Given the description of an element on the screen output the (x, y) to click on. 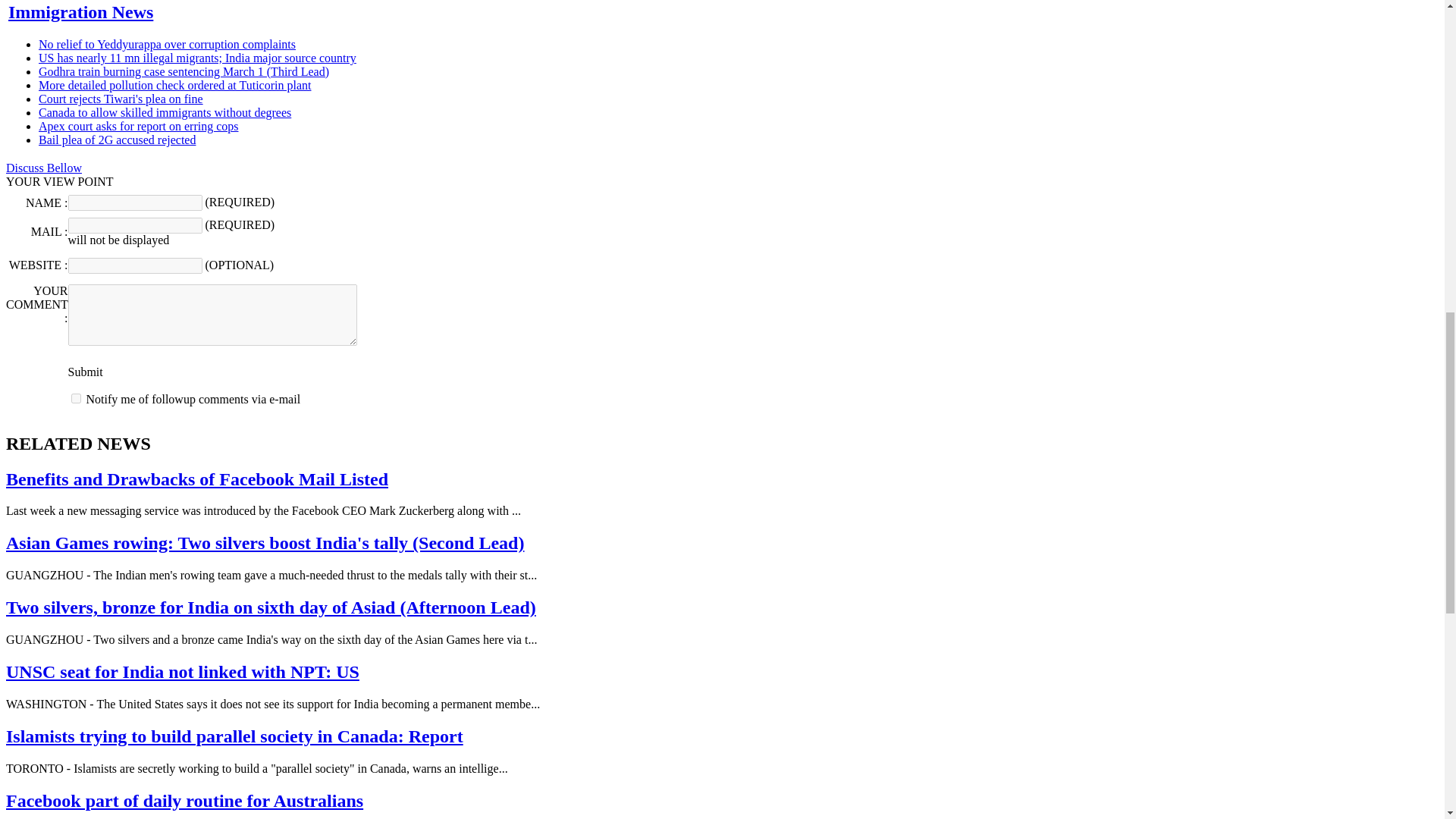
Canada to allow skilled immigrants without degrees (165, 112)
More detailed pollution check ordered at Tuticorin plant (175, 84)
Immigration News (80, 12)
No relief to Yeddyurappa over corruption complaints (167, 43)
Court rejects Tiwari's plea on fine (121, 98)
subscribe (76, 398)
